Given the description of an element on the screen output the (x, y) to click on. 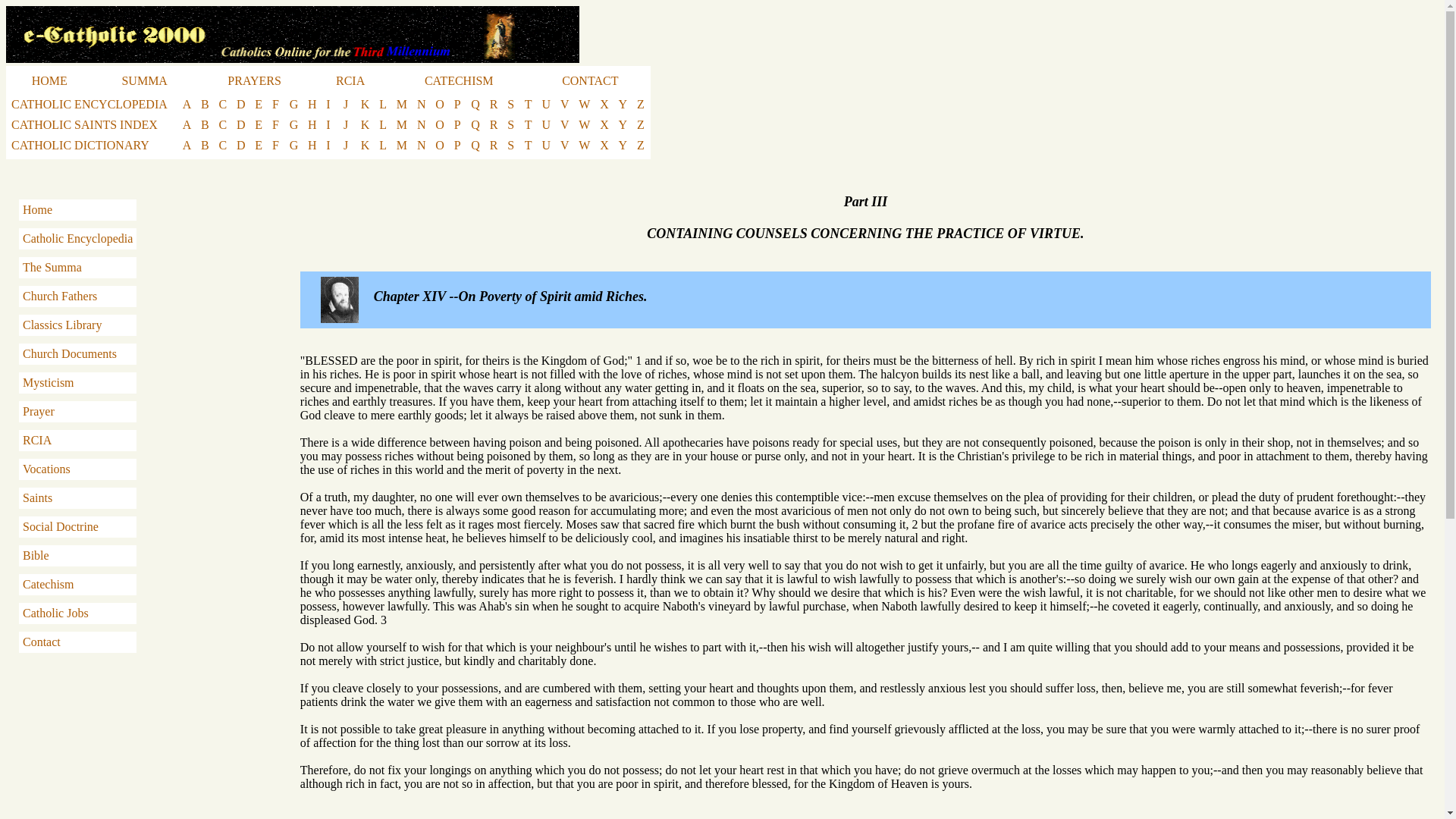
HOME (49, 80)
N (421, 104)
D (240, 124)
P (457, 104)
CATHOLIC ENCYCLOPEDIA (89, 104)
K (365, 104)
Y (622, 104)
W (584, 104)
T (528, 104)
R (494, 104)
